Given the description of an element on the screen output the (x, y) to click on. 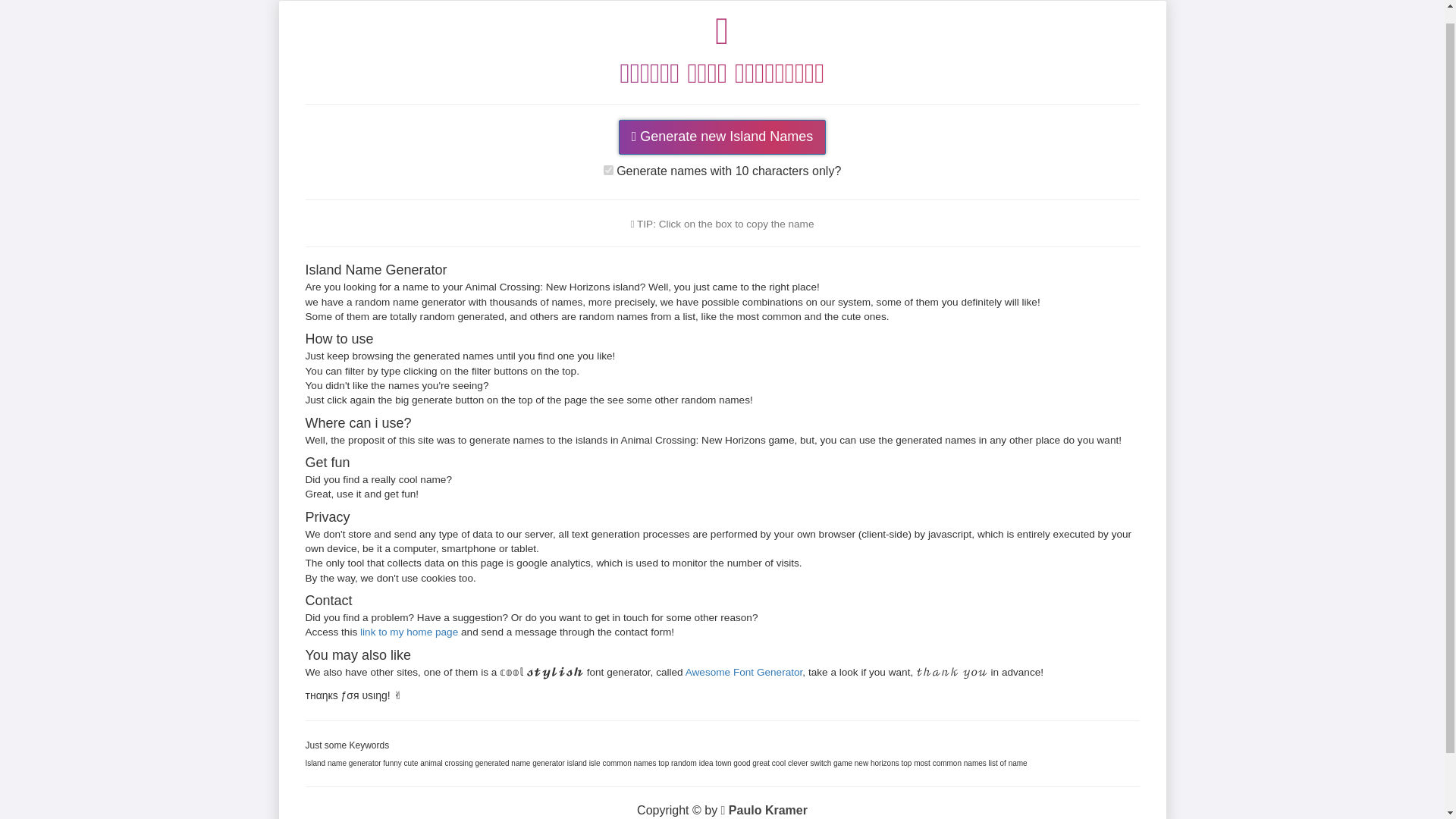
Paulo Kramer Website - Desenvolvedor Web Freelancer (764, 809)
Generate new Island Names (722, 136)
Awesome Font Generator (744, 672)
on (608, 170)
Paulo Kramer (764, 809)
link to my home page (408, 632)
Island Name Generator (721, 44)
